Given the description of an element on the screen output the (x, y) to click on. 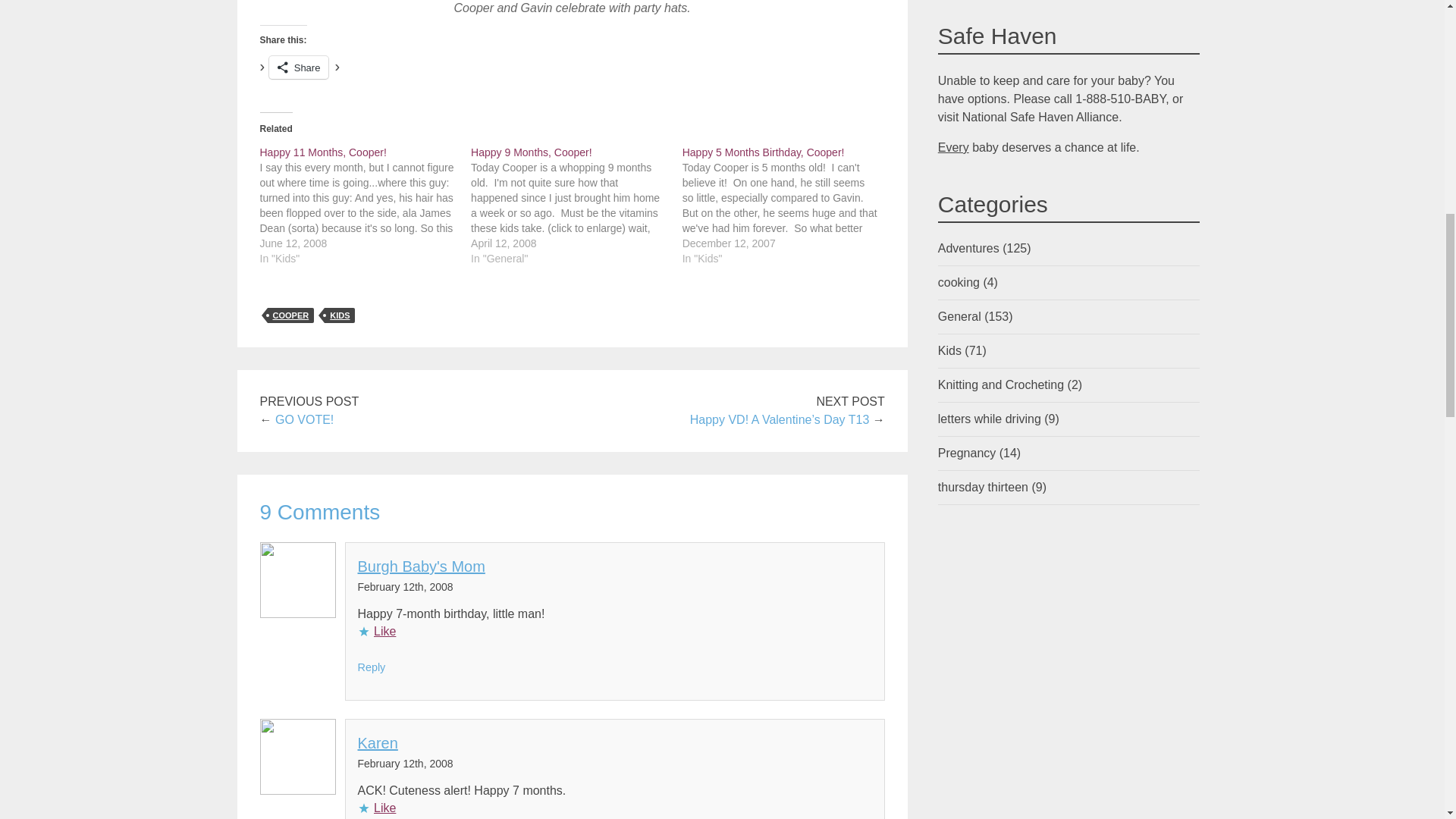
COOPER (290, 314)
Happy 11 Months, Cooper! (322, 152)
Happy 5 Months Birthday, Cooper! (763, 152)
Share (299, 67)
Happy 9 Months, Cooper! (531, 152)
KIDS (339, 314)
